Given the description of an element on the screen output the (x, y) to click on. 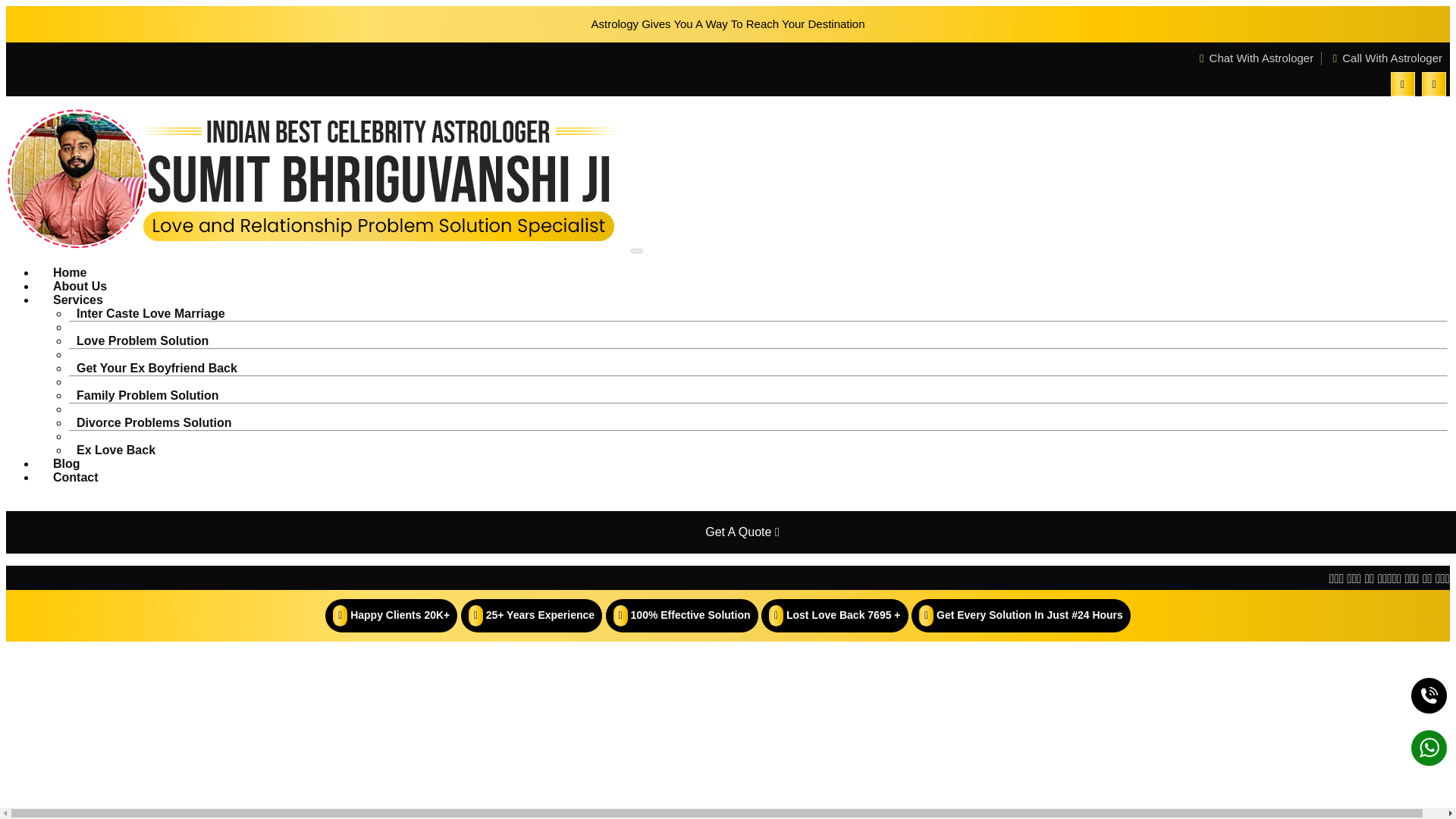
About Us (79, 285)
Services (78, 299)
Love Problem Solution (141, 340)
Family Problem Solution (147, 395)
Divorce Problems Solution (153, 422)
Call With Astrologer (1387, 57)
Chat With Astrologer (1256, 57)
Contact (76, 477)
Blog (66, 463)
Inter Caste Love Marriage (150, 313)
